Given the description of an element on the screen output the (x, y) to click on. 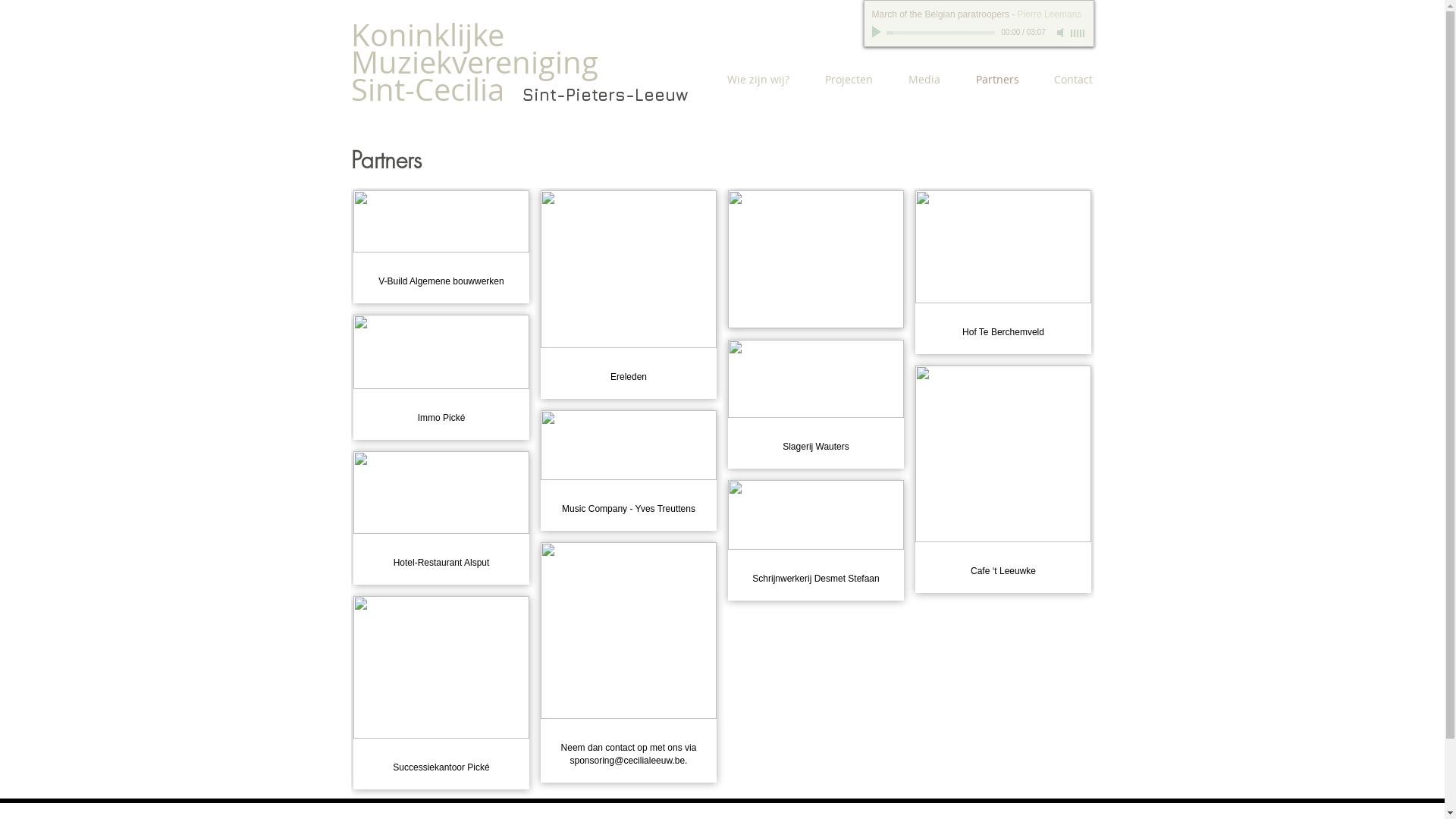
Koninklijke Muziekvereniging Sint-Cecilia Element type: text (473, 61)
Wie zijn wij? Element type: text (751, 79)
Partners Element type: text (989, 79)
Media Element type: text (917, 79)
Projecten Element type: text (842, 79)
Contact Element type: text (1066, 79)
